Given the description of an element on the screen output the (x, y) to click on. 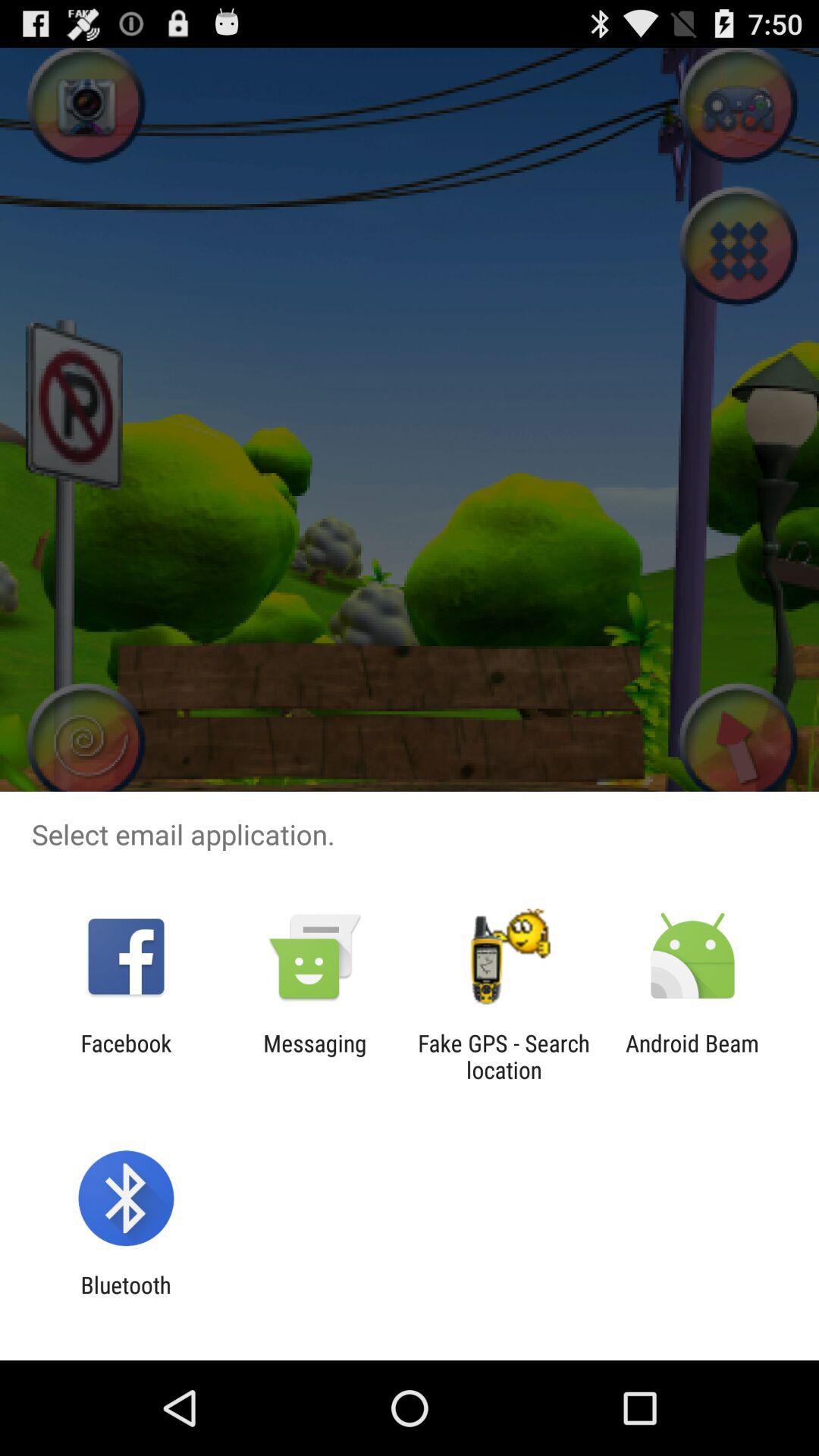
jump until the facebook (125, 1056)
